Given the description of an element on the screen output the (x, y) to click on. 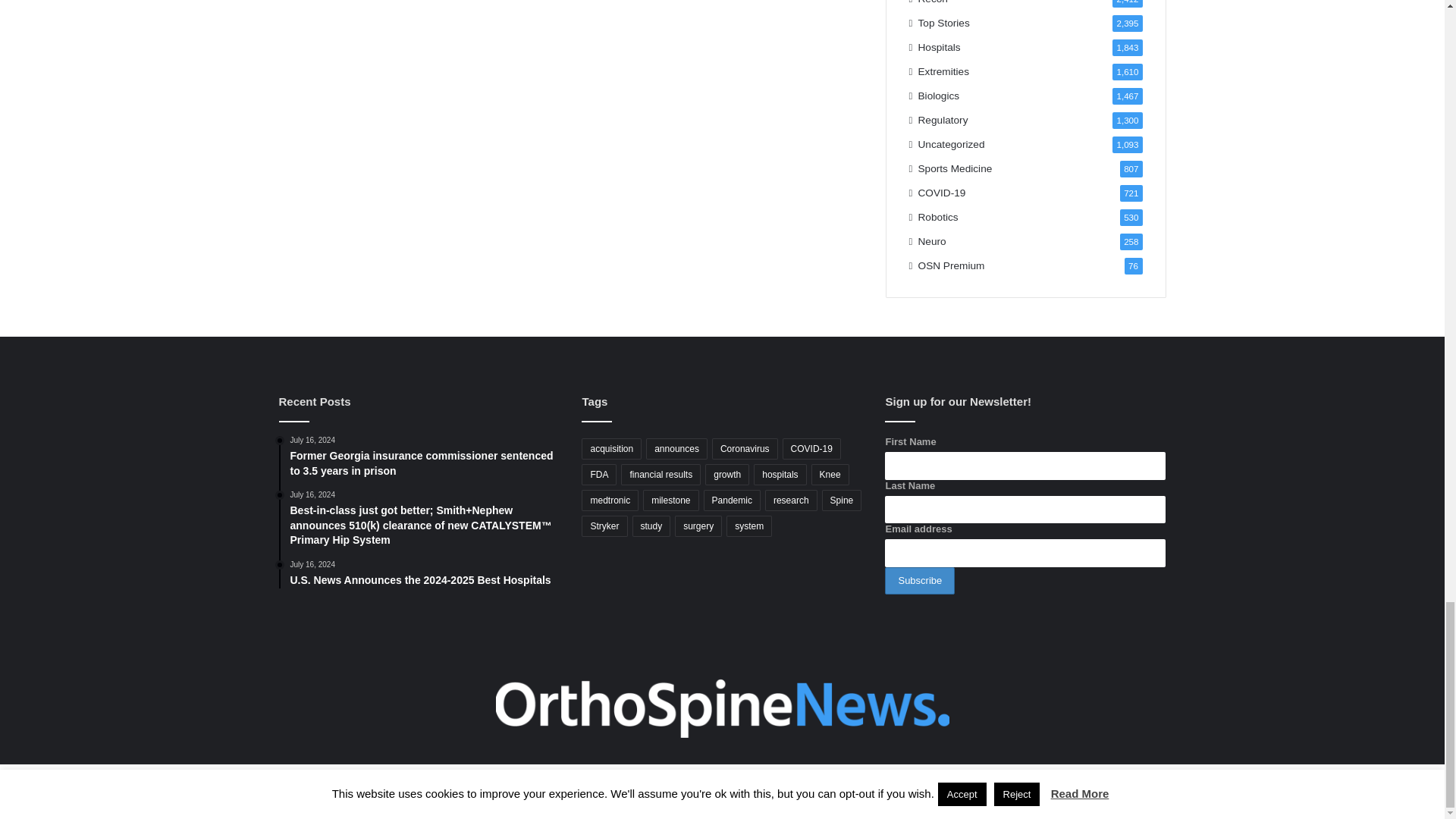
Subscribe (920, 581)
